Given the description of an element on the screen output the (x, y) to click on. 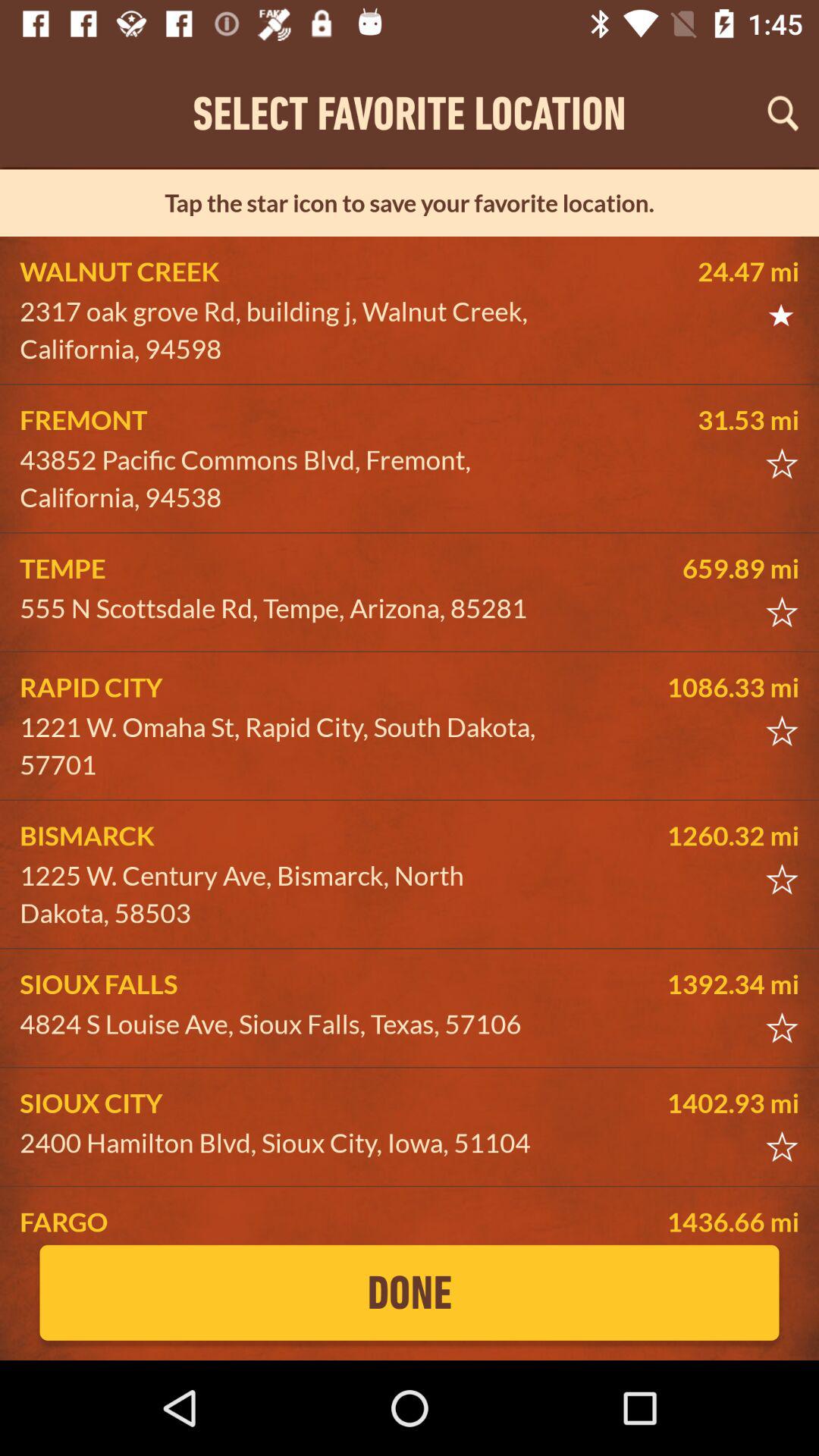
tap icon next to the tempe icon (685, 568)
